Given the description of an element on the screen output the (x, y) to click on. 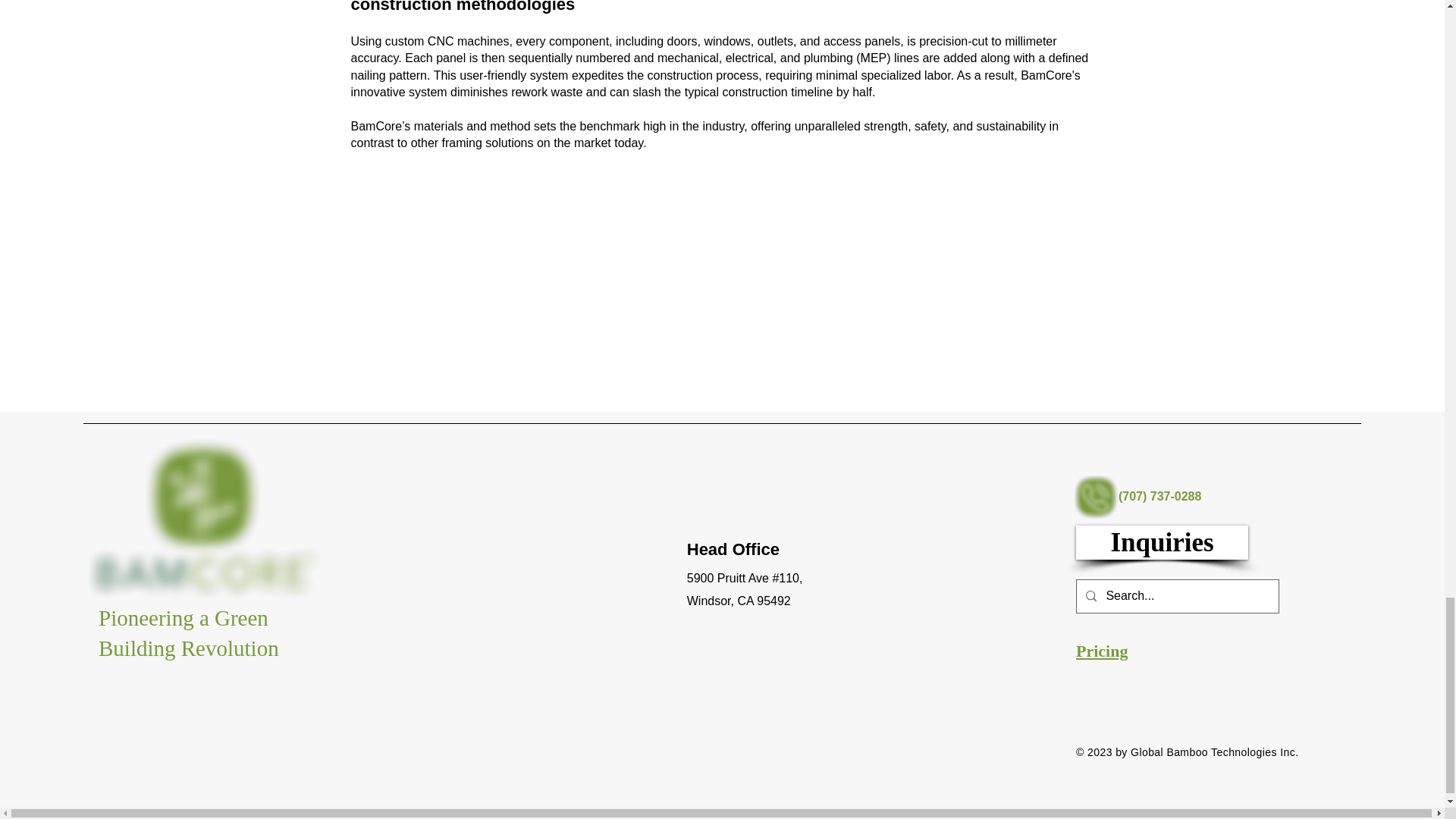
Inquiries (1161, 542)
Pricing (1100, 650)
